Given the description of an element on the screen output the (x, y) to click on. 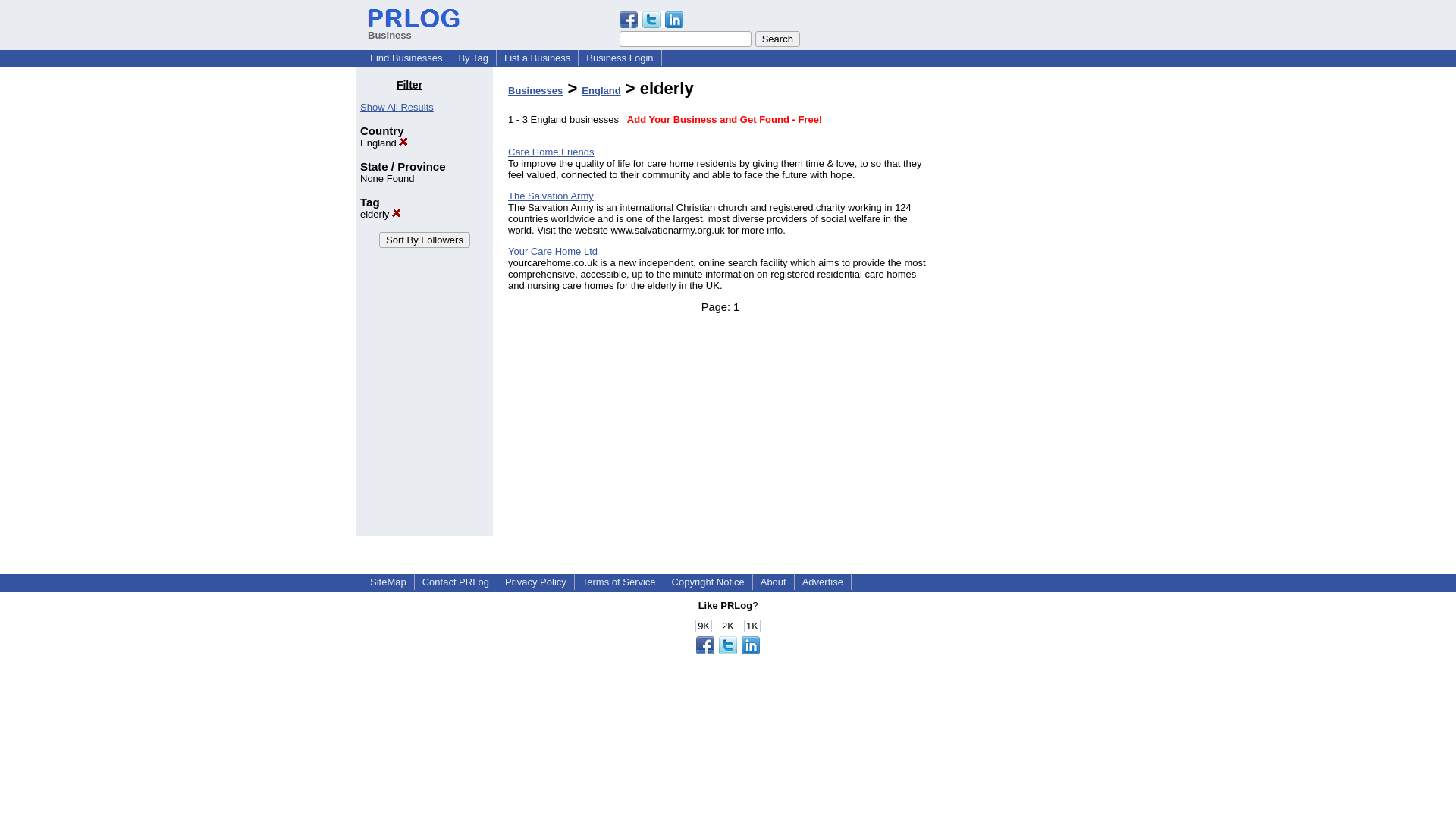
Share this page! (651, 24)
Share this page! (727, 650)
About (773, 581)
Add Your Business and Get Found - Free! (724, 119)
Click to remove this filter (380, 214)
SiteMap (388, 581)
By Tag (473, 57)
Terms of Service (619, 581)
Privacy Policy (535, 581)
Contact PRLog (455, 581)
